Given the description of an element on the screen output the (x, y) to click on. 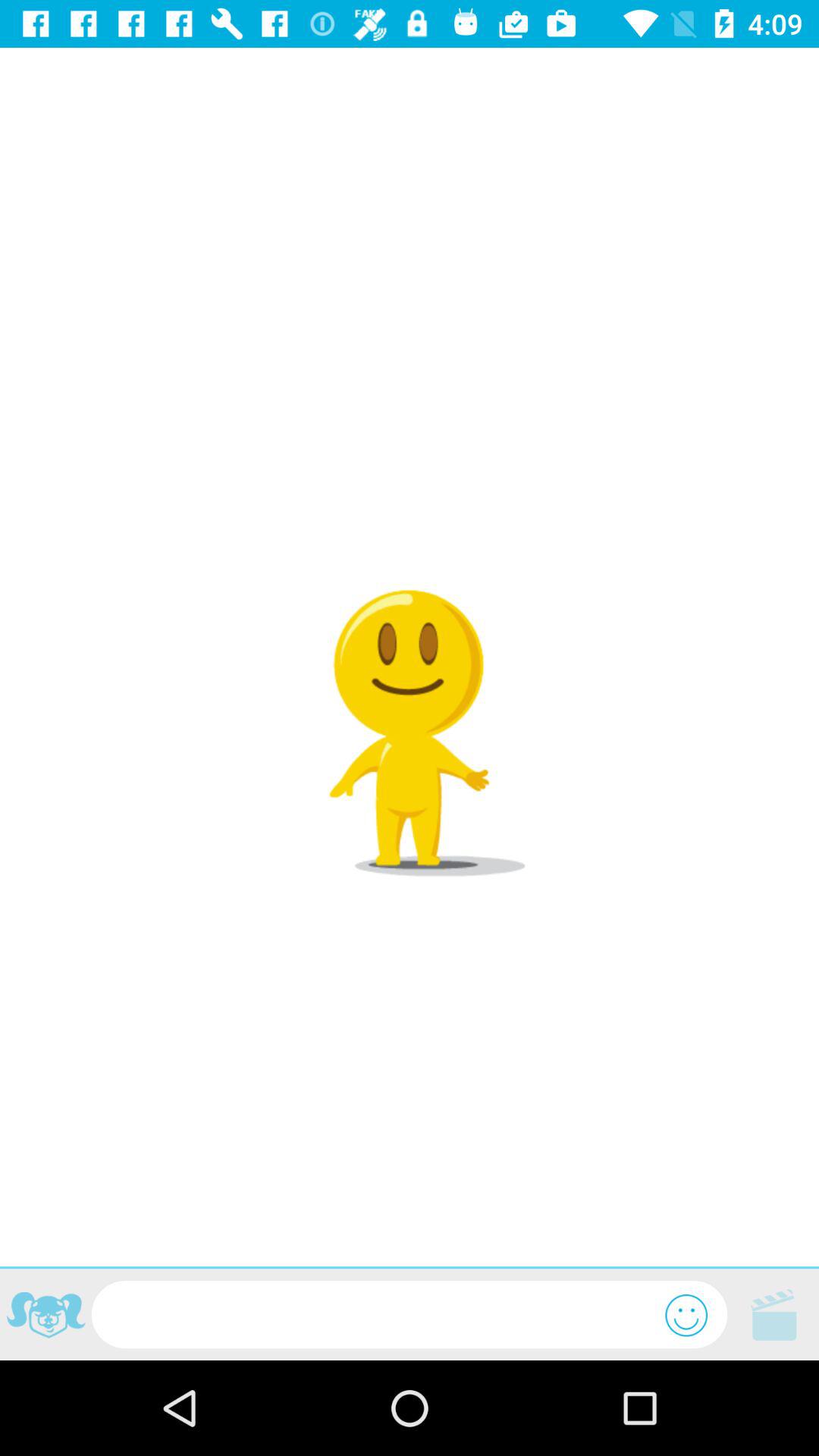
go to videos (773, 1314)
